Given the description of an element on the screen output the (x, y) to click on. 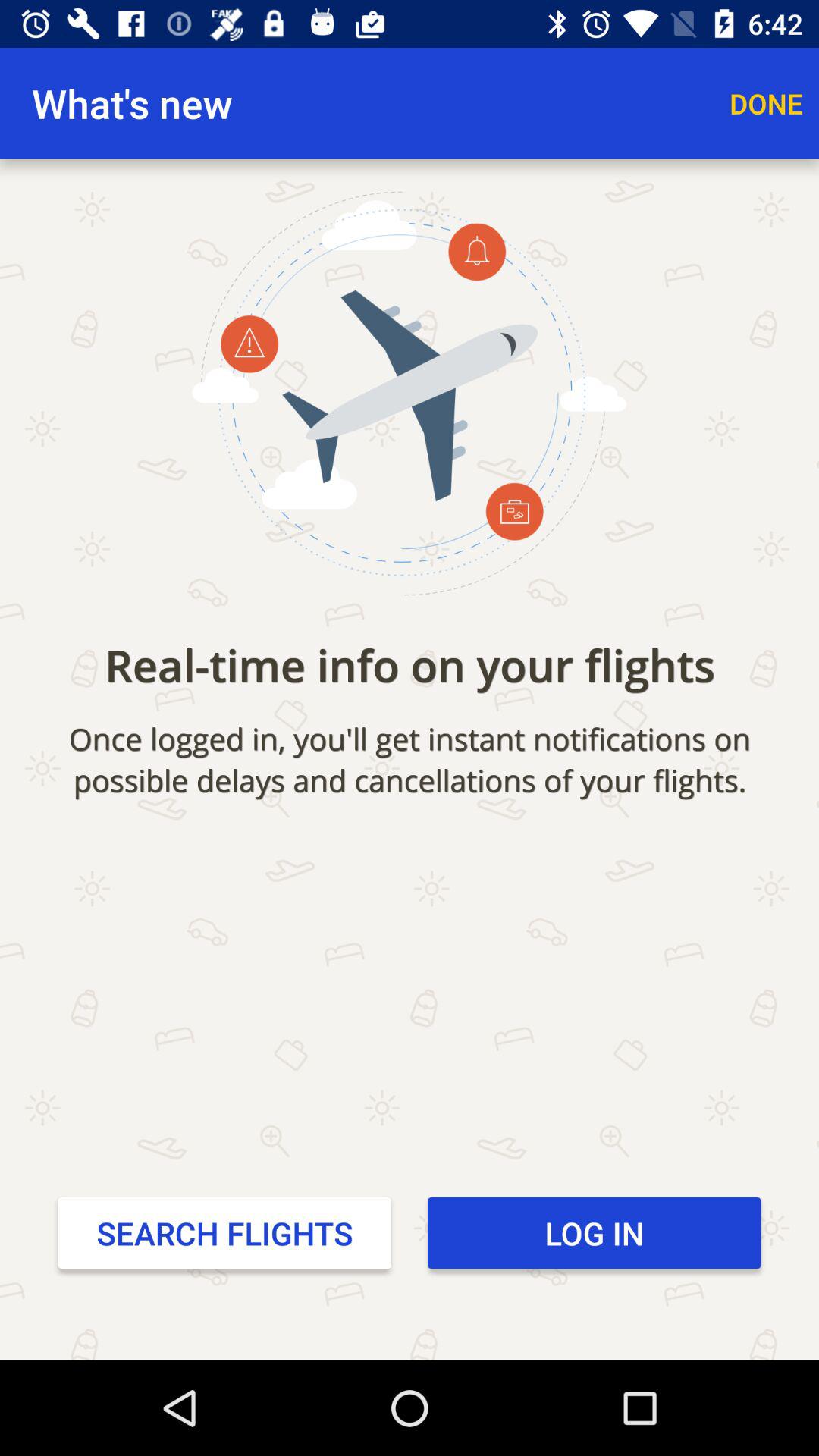
tap icon next to the what's new item (766, 103)
